Given the description of an element on the screen output the (x, y) to click on. 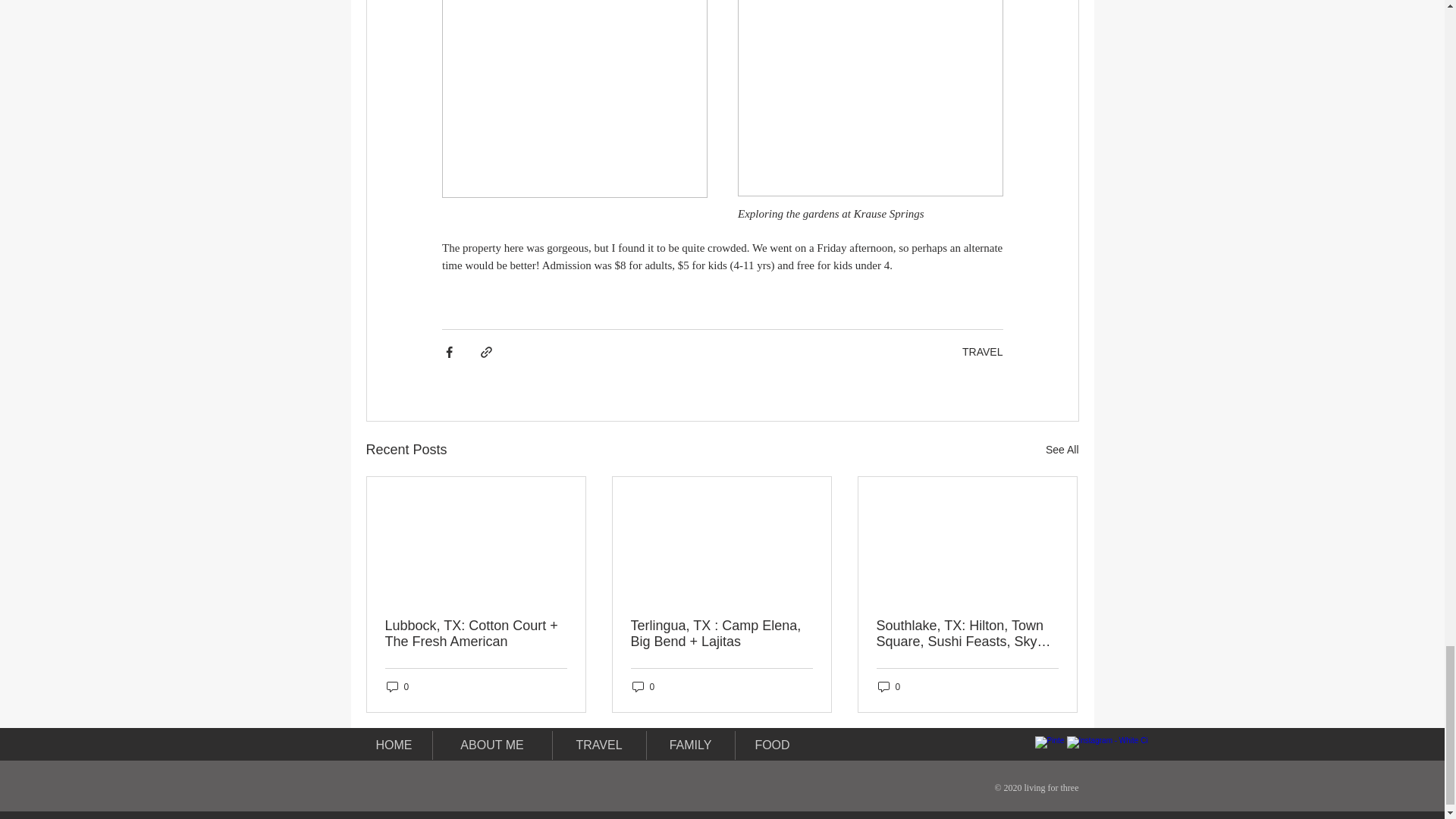
0 (889, 686)
See All (1061, 449)
TRAVEL (982, 351)
0 (397, 686)
0 (643, 686)
